Given the description of an element on the screen output the (x, y) to click on. 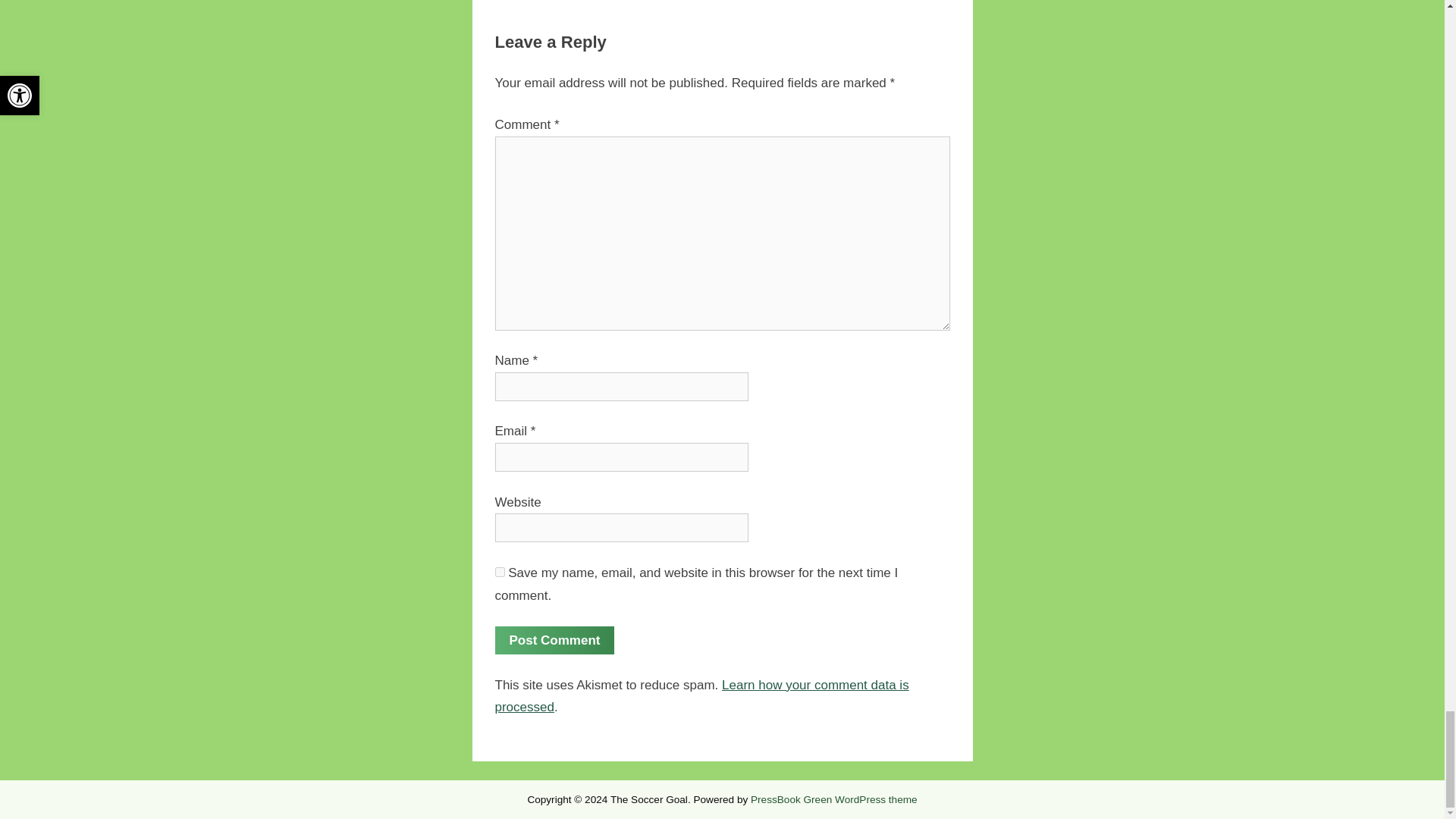
Post Comment (554, 640)
yes (499, 572)
